Given the description of an element on the screen output the (x, y) to click on. 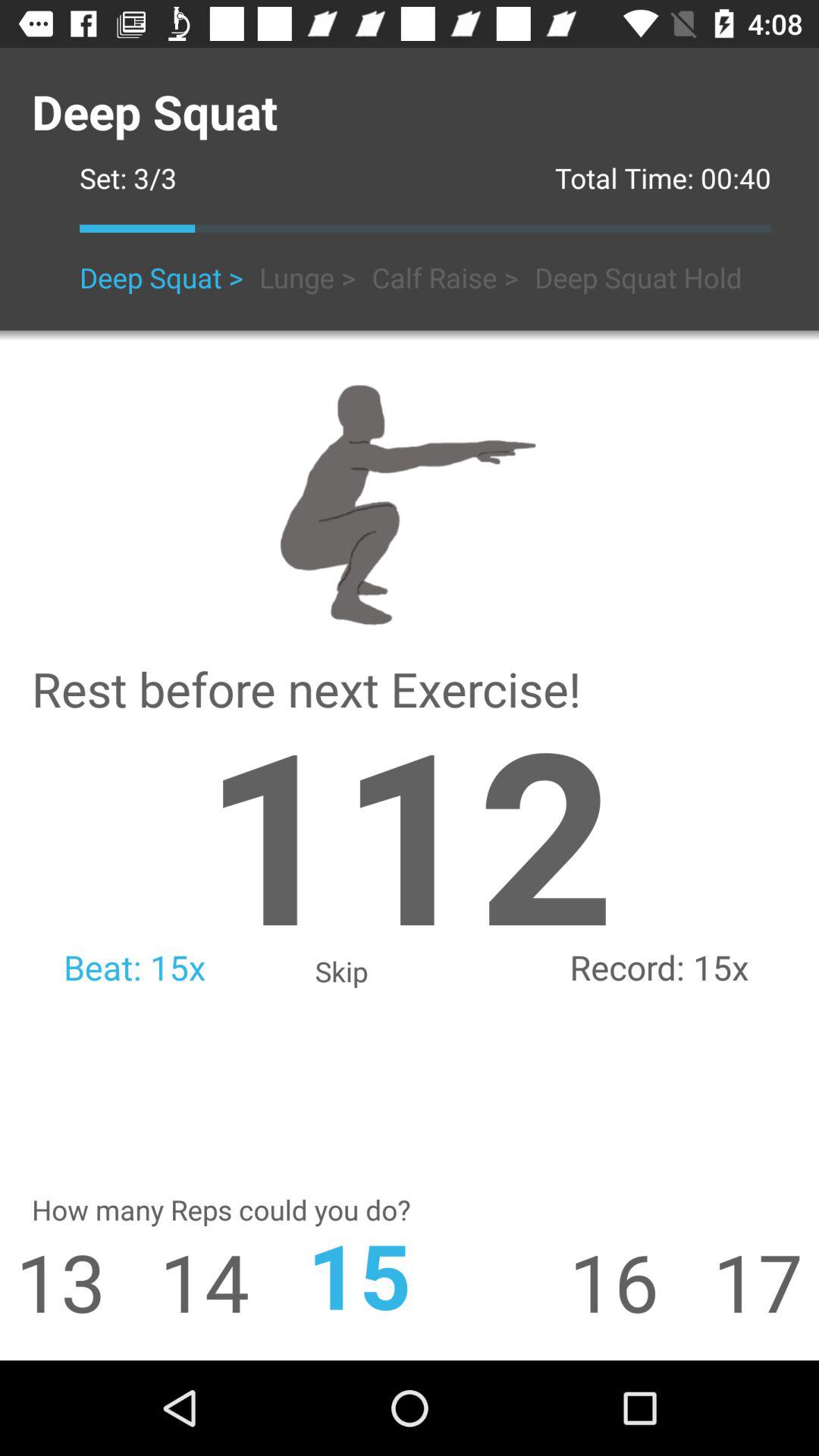
click the icon next to the 14 item (52, 1281)
